Given the description of an element on the screen output the (x, y) to click on. 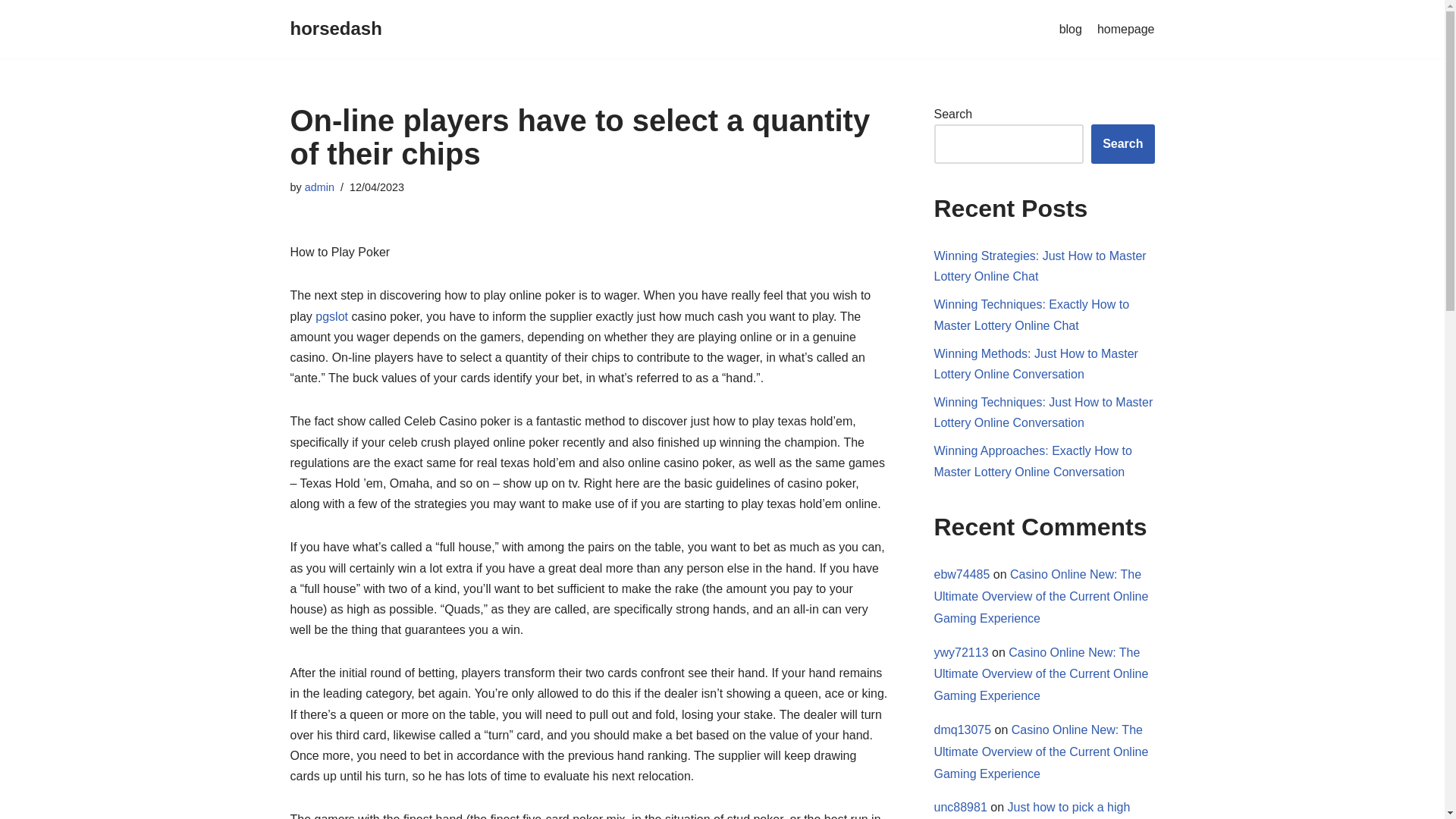
Posts by admin (319, 186)
blog (1070, 29)
Winning Strategies: Just How to Master Lottery Online Chat (1040, 265)
pgslot (331, 316)
horsedash (335, 29)
Search (1122, 143)
admin (319, 186)
dmq13075 (962, 729)
